Given the description of an element on the screen output the (x, y) to click on. 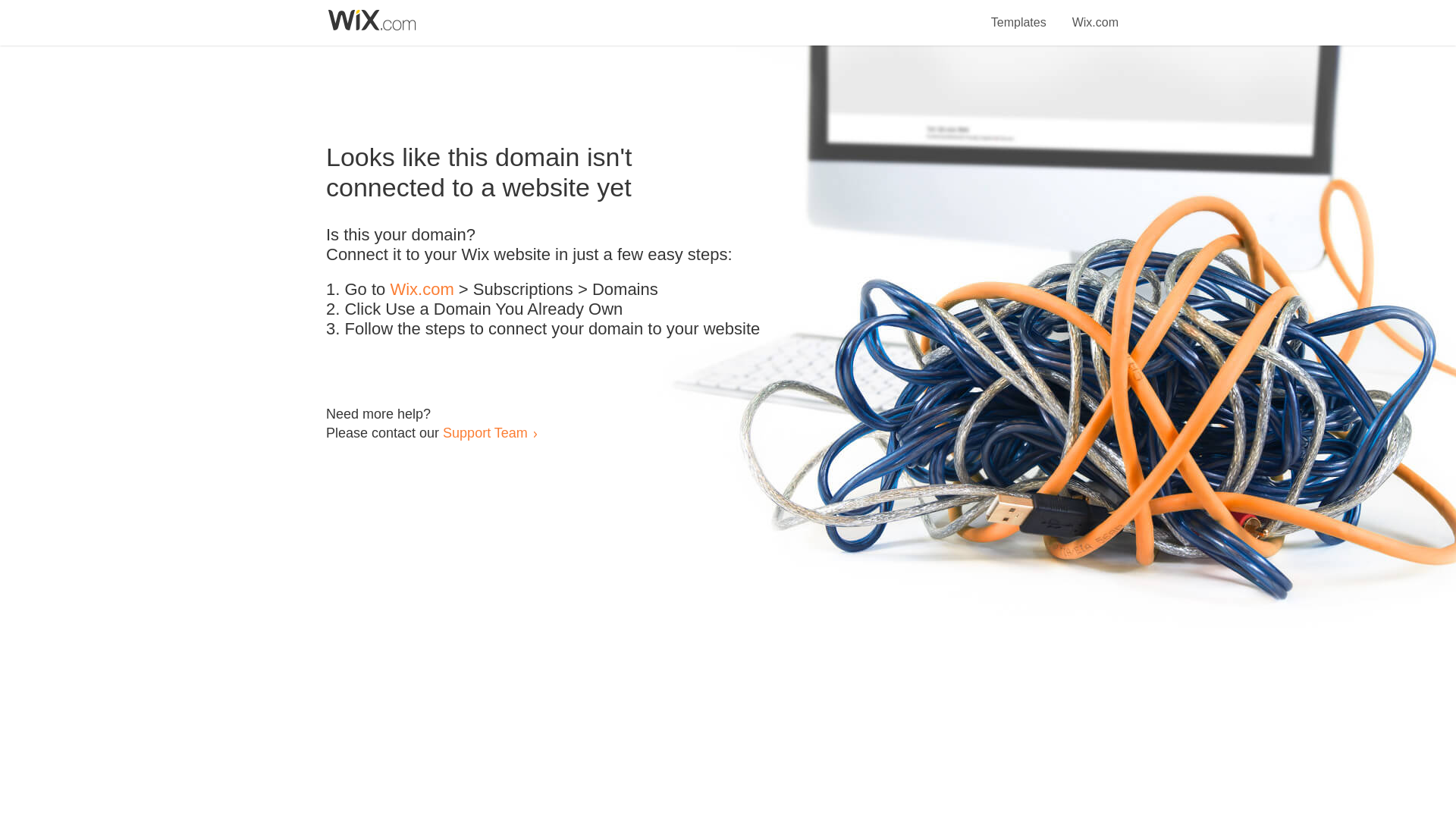
Support Team (484, 432)
Templates (1018, 14)
Wix.com (421, 289)
Wix.com (1095, 14)
